Given the description of an element on the screen output the (x, y) to click on. 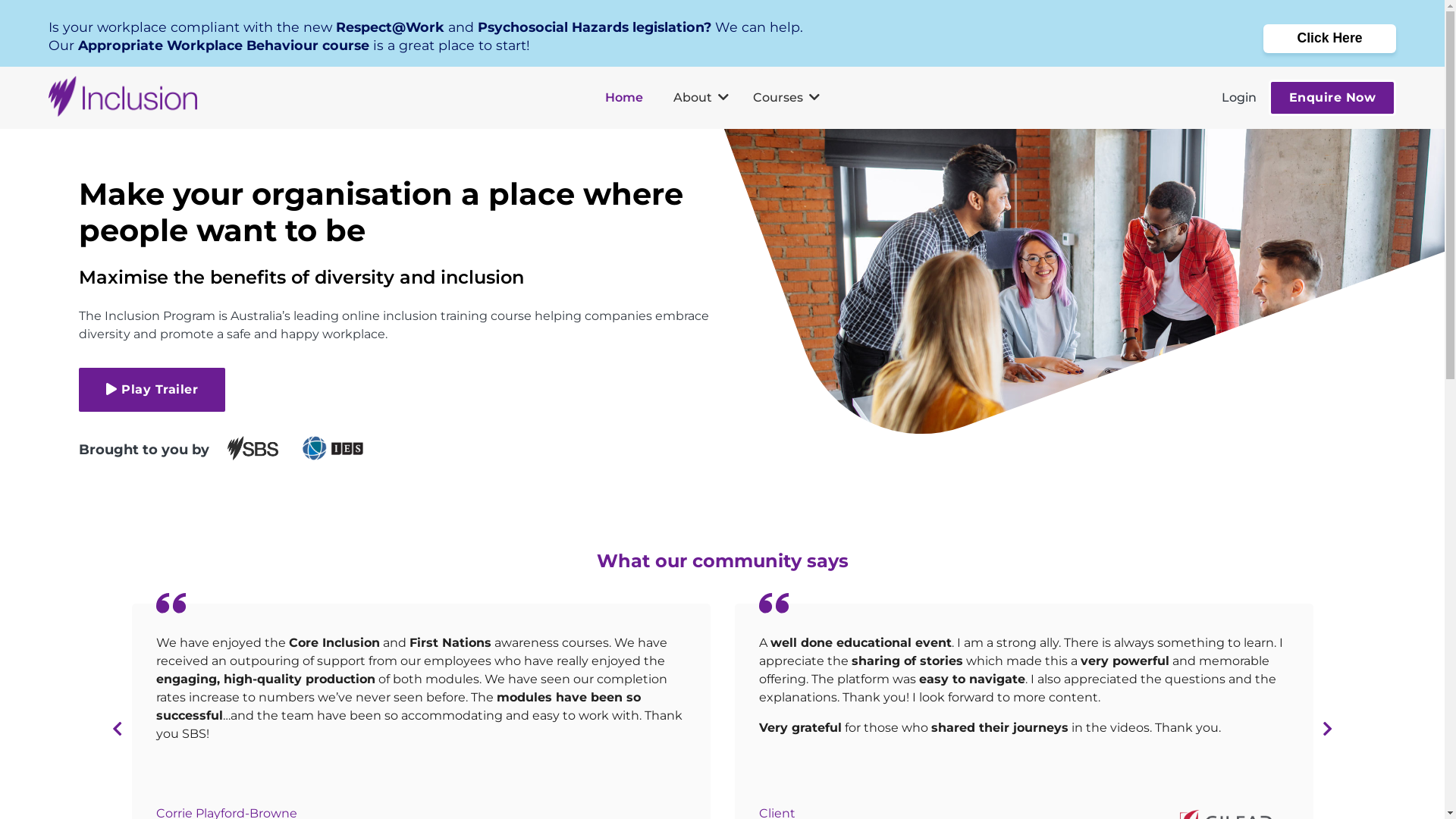
Login Element type: text (1237, 97)
Click Here Element type: text (1329, 38)
Skip Navigation Element type: text (47, 6)
 Play Trailer Element type: text (151, 389)
Enquire Now Element type: text (1331, 97)
About Element type: text (700, 97)
Courses Element type: text (785, 97)
Home Element type: text (624, 97)
